Given the description of an element on the screen output the (x, y) to click on. 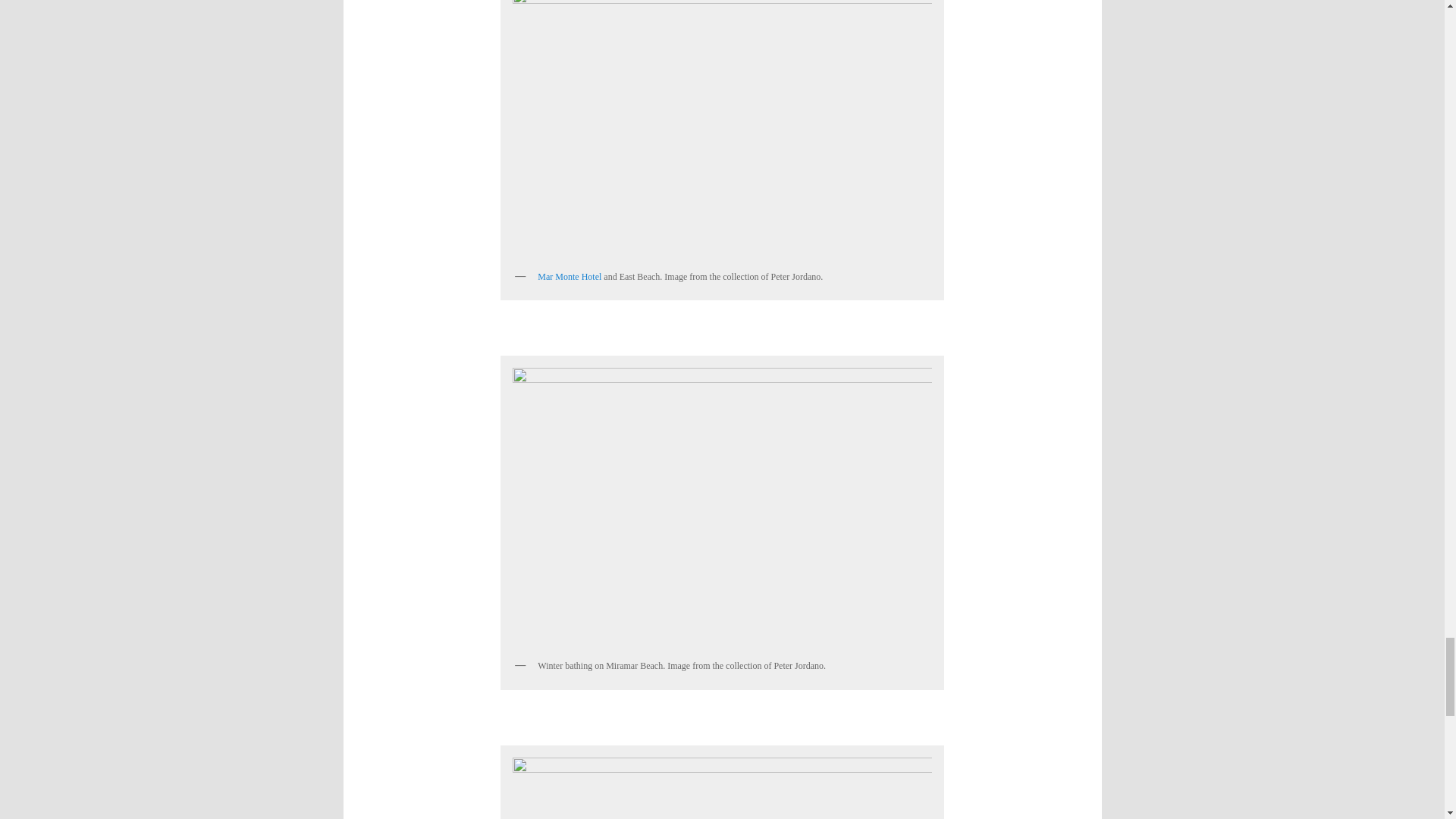
Mar Monte Hotel (569, 276)
